Given the description of an element on the screen output the (x, y) to click on. 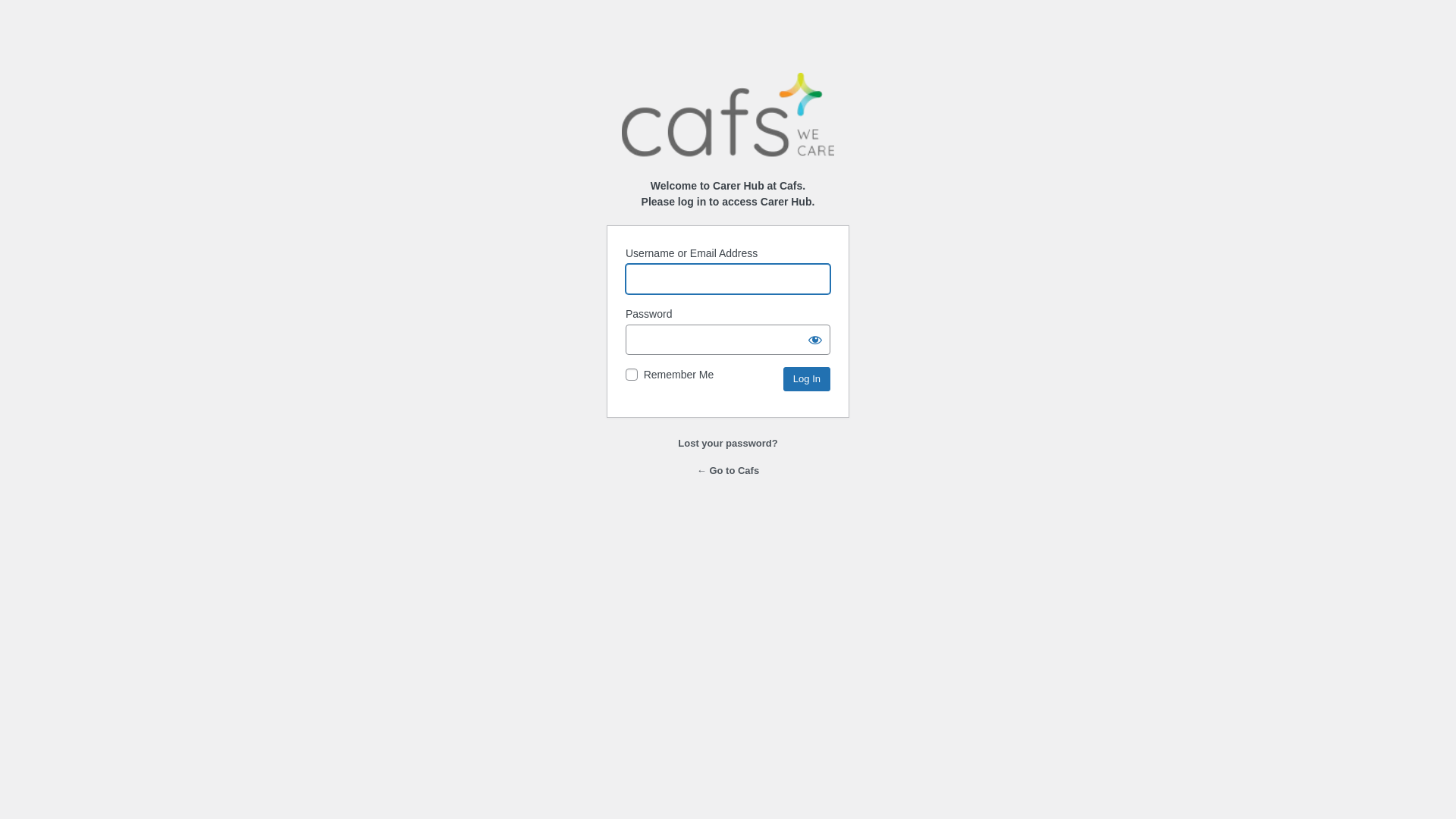
Log In Element type: text (806, 379)
Lost your password? Element type: text (727, 442)
Cafs Element type: text (727, 115)
